Given the description of an element on the screen output the (x, y) to click on. 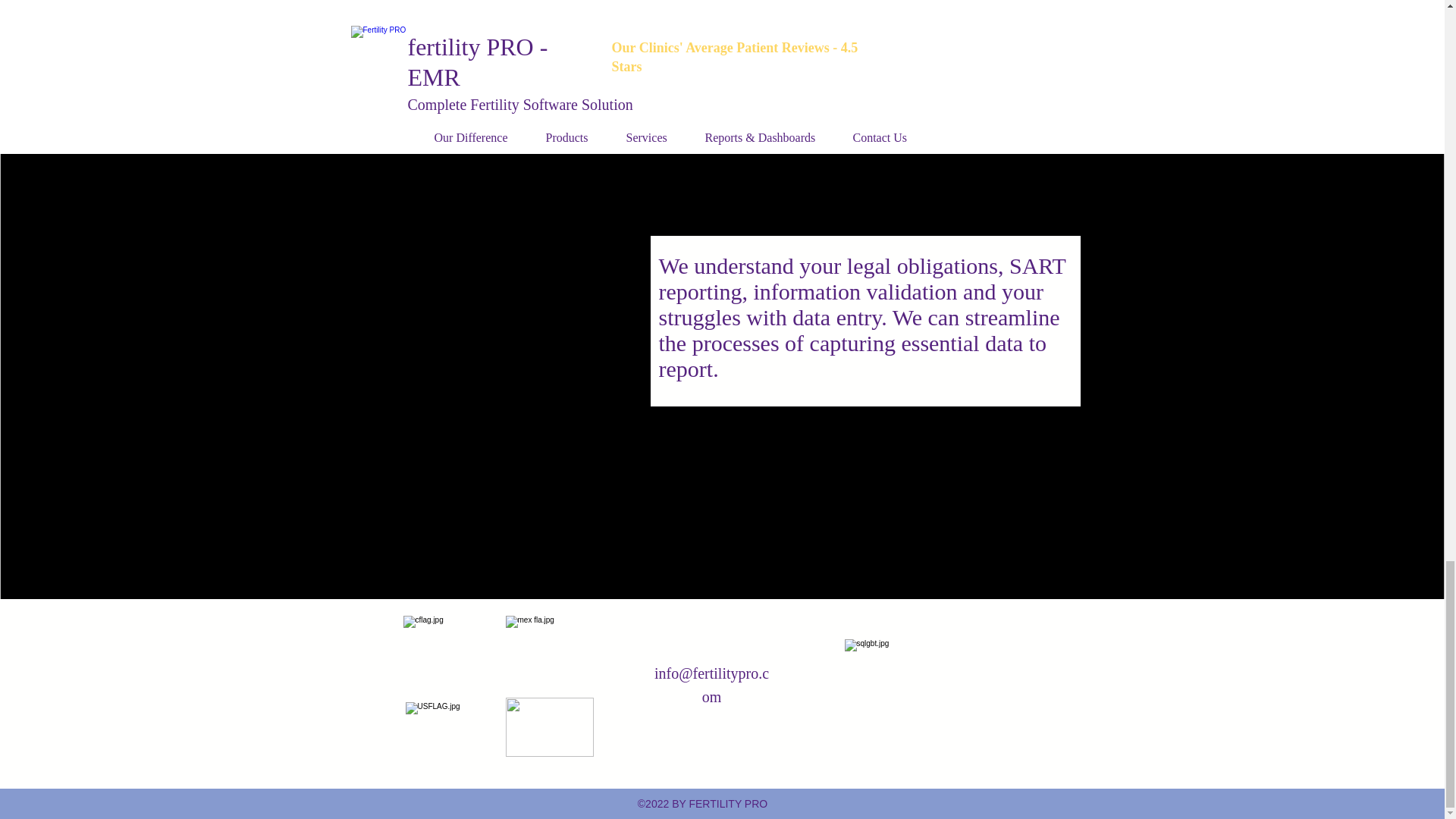
lebflag1.png (548, 726)
